Given the description of an element on the screen output the (x, y) to click on. 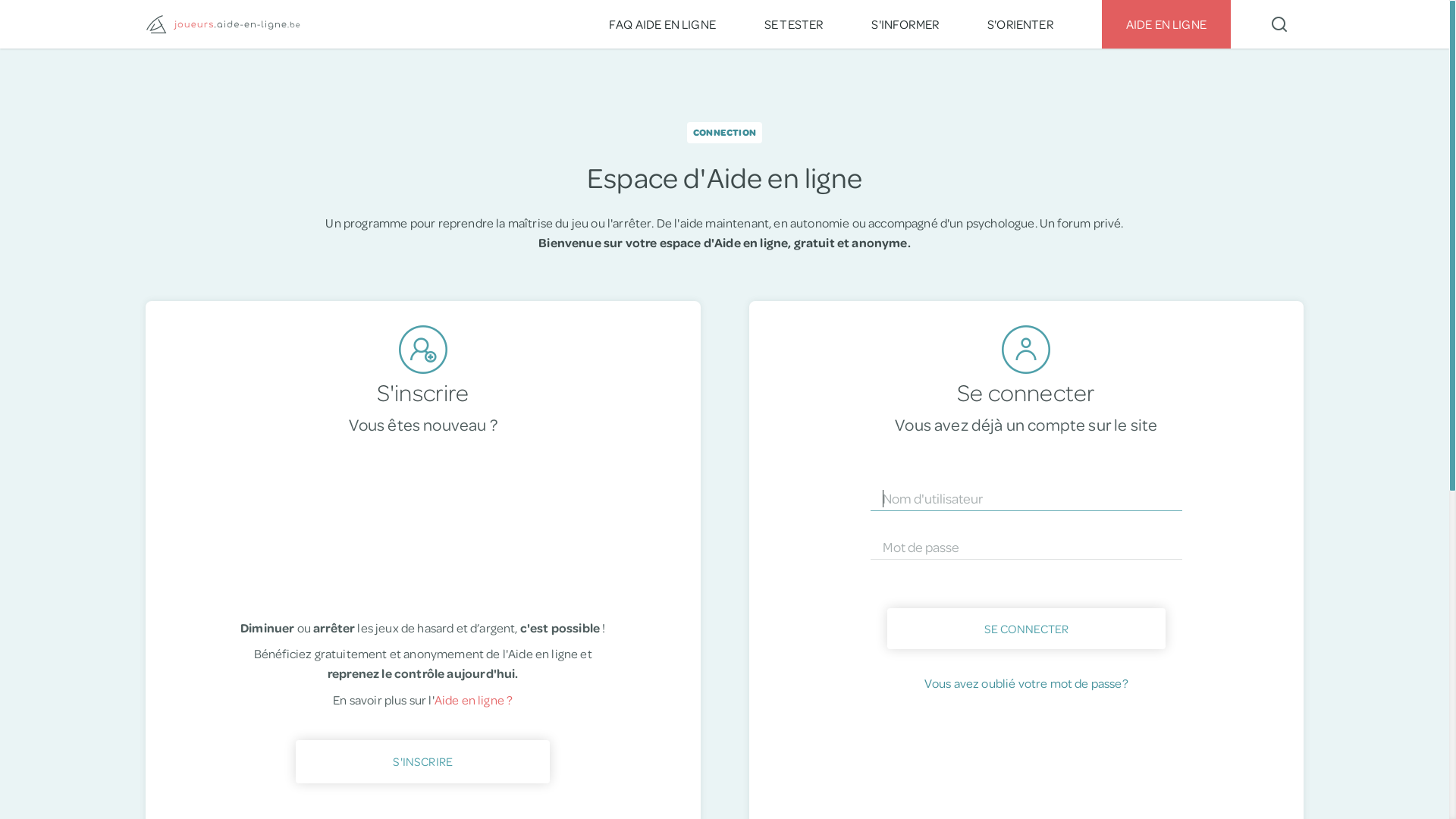
S'INFORMER Element type: text (904, 24)
S'ORIENTER Element type: text (1020, 24)
S'INSCRIRE Element type: text (422, 761)
Aide en ligne ? Element type: text (473, 699)
SE CONNECTER Element type: text (1026, 628)
AIDE EN LIGNE Element type: text (1165, 24)
SE TESTER Element type: text (793, 24)
FAQ AIDE EN LIGNE Element type: text (661, 24)
